Given the description of an element on the screen output the (x, y) to click on. 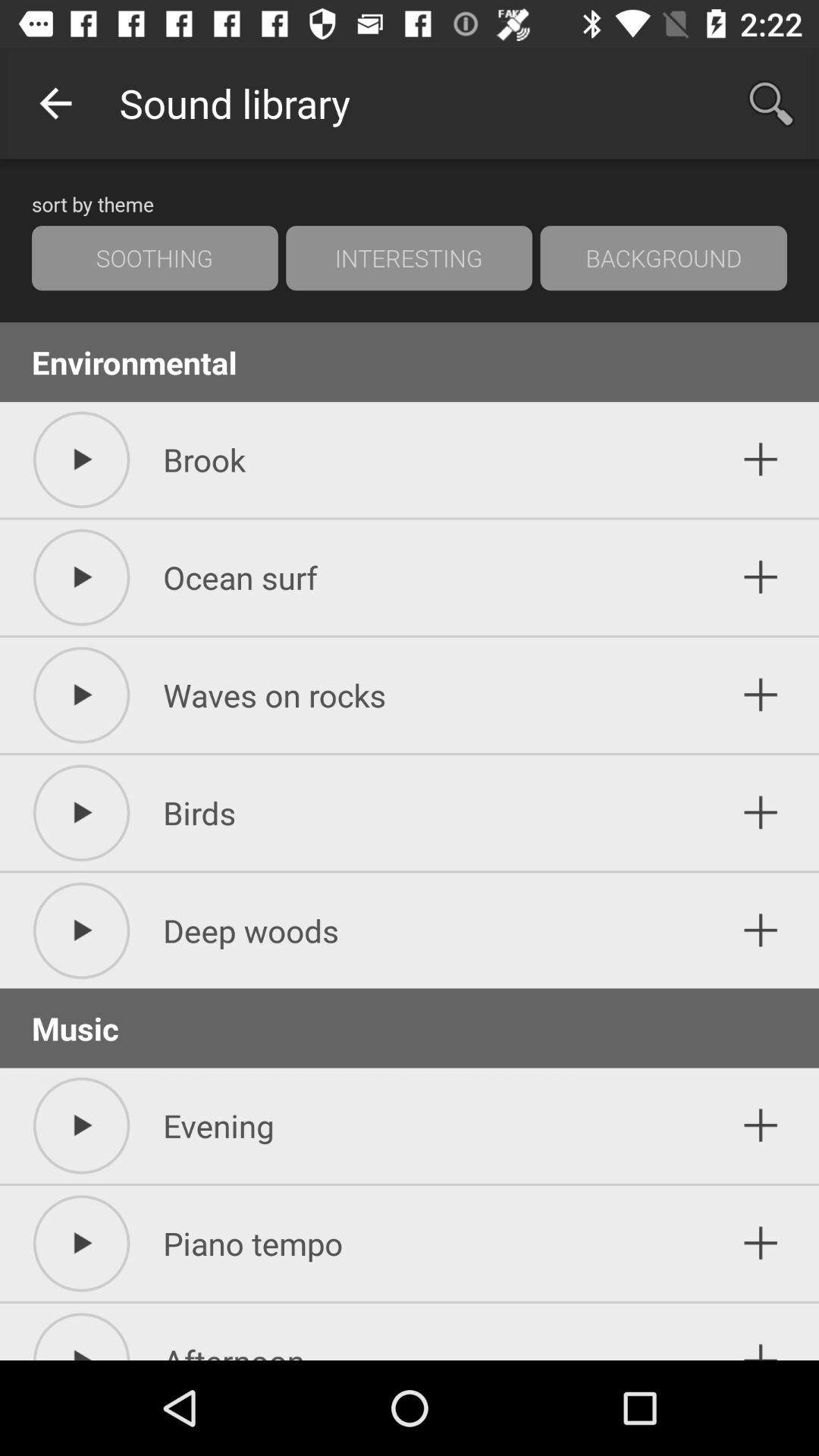
launch the soothing item (154, 257)
